Given the description of an element on the screen output the (x, y) to click on. 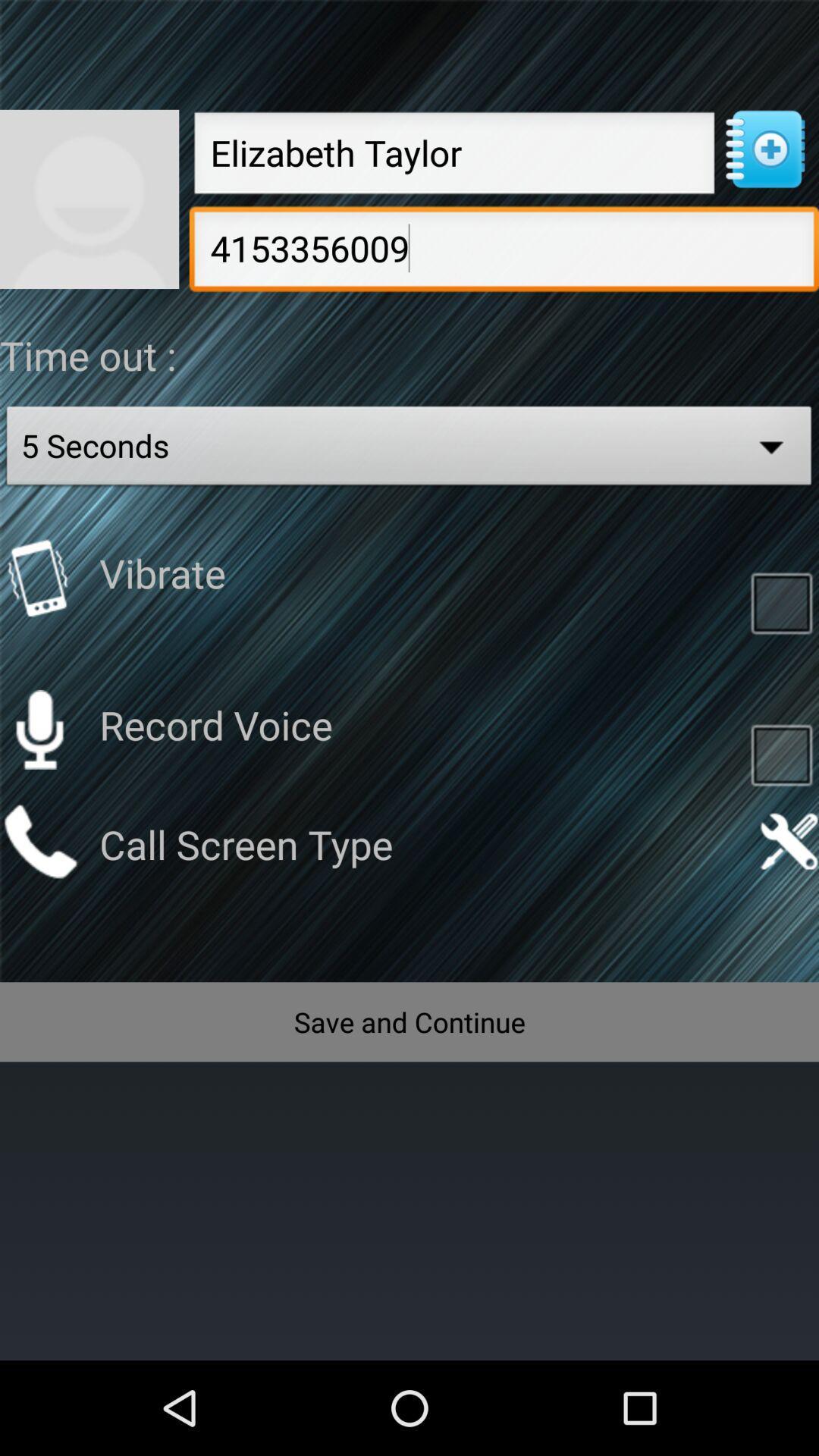
add photo (89, 198)
